Given the description of an element on the screen output the (x, y) to click on. 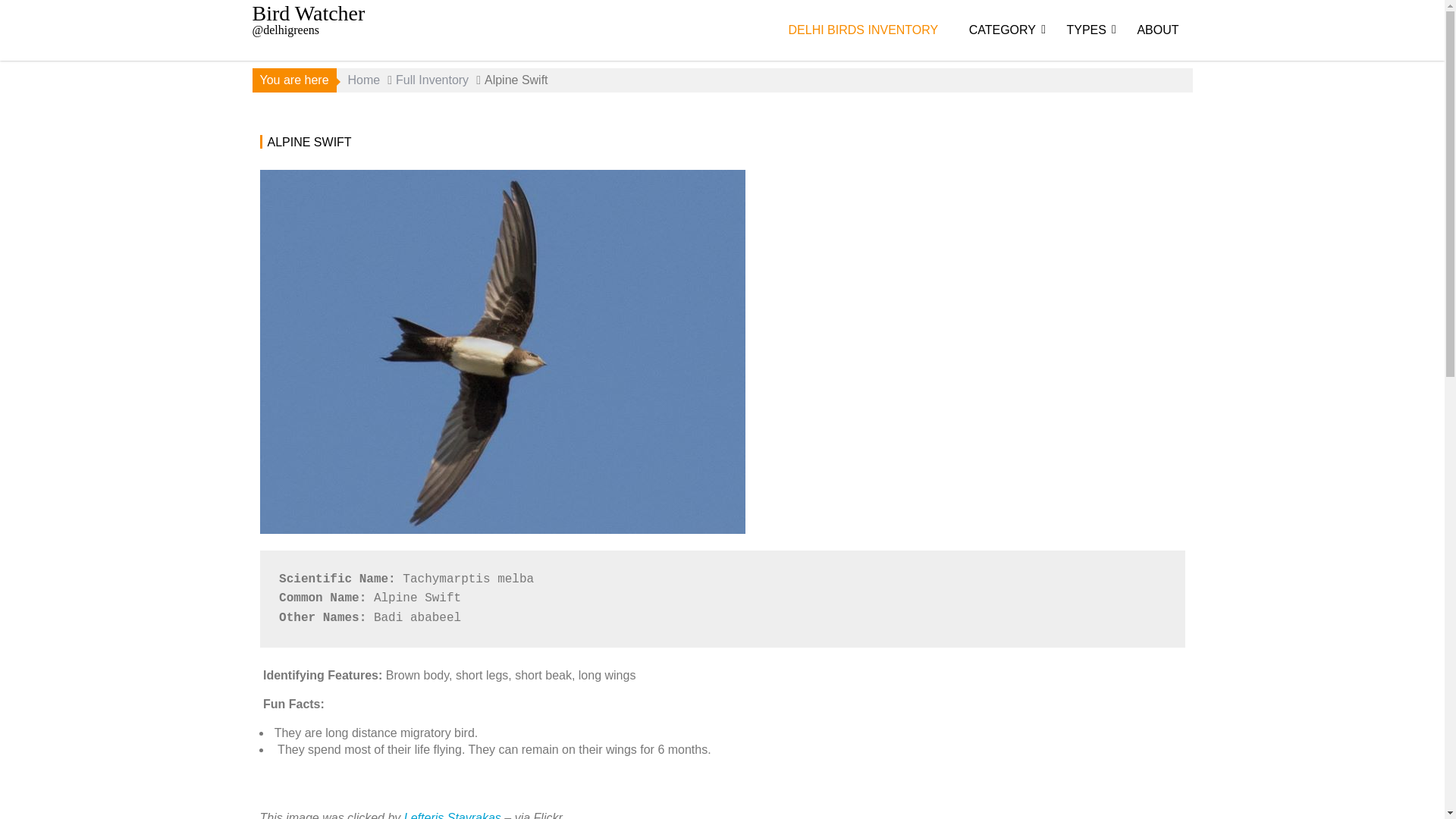
CATEGORY (1002, 30)
Home (363, 80)
ABOUT (1157, 30)
Lefteris Stavrakas (452, 815)
Bird Watcher (308, 13)
TYPES (1085, 30)
DELHI BIRDS INVENTORY (863, 30)
Full Inventory (432, 80)
